Given the description of an element on the screen output the (x, y) to click on. 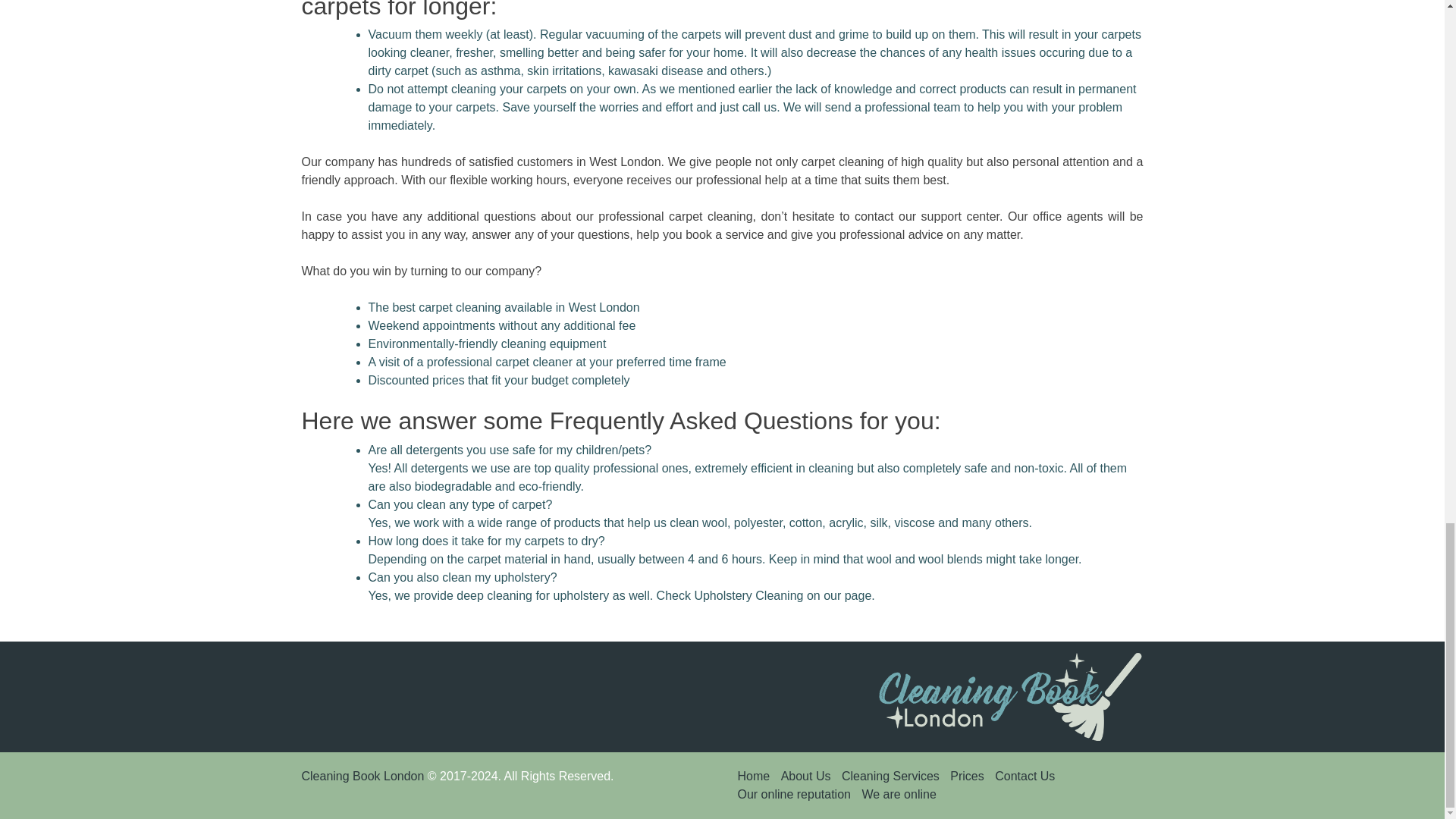
Our online reputation (793, 793)
We are online (898, 793)
Home (753, 775)
Cleaning Book London (363, 775)
Prices (967, 775)
Contact Us (1024, 775)
Cleaning Services (890, 775)
About Us (805, 775)
